Given the description of an element on the screen output the (x, y) to click on. 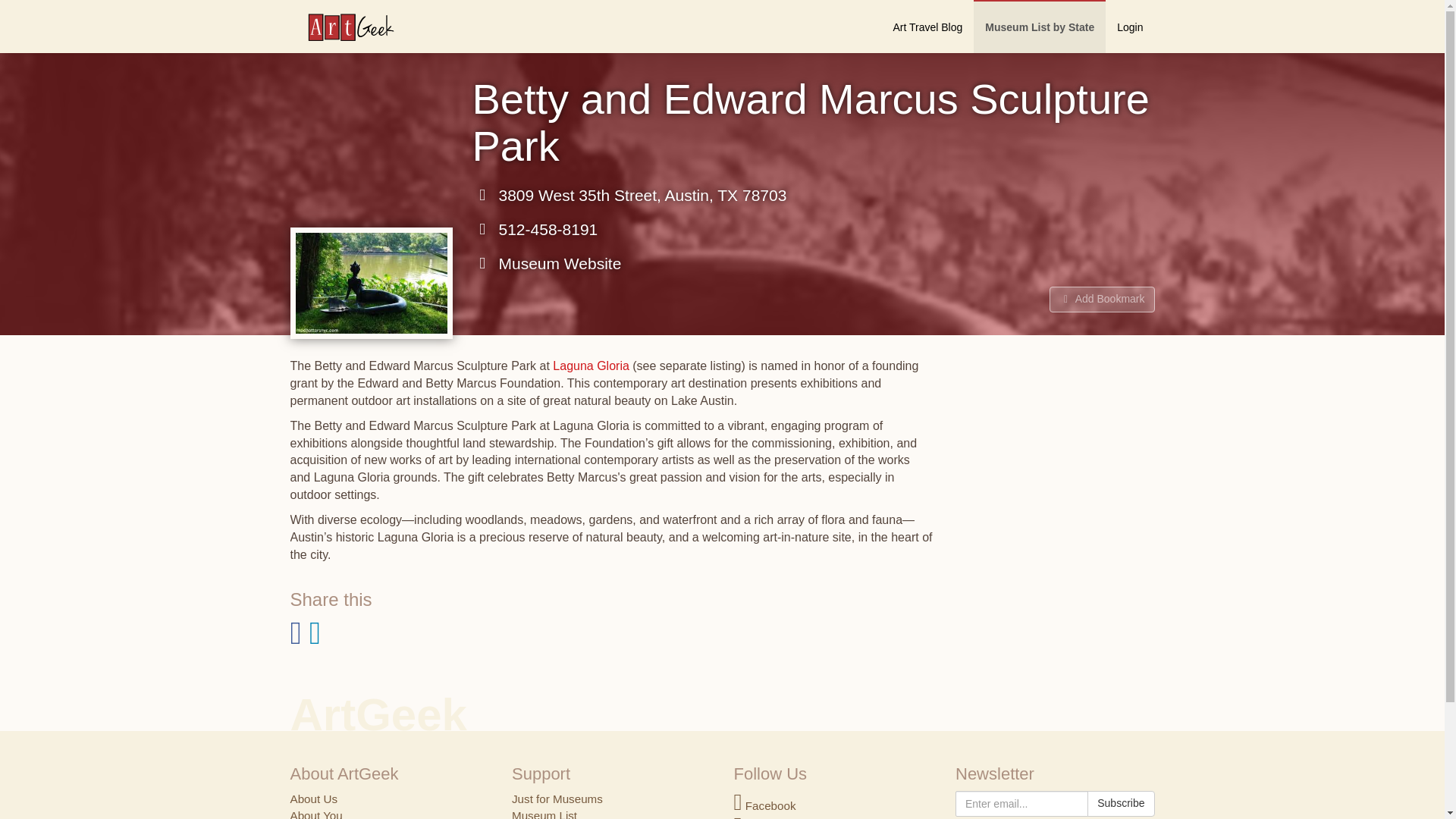
Museum Website (546, 263)
Login (1129, 26)
Art Travel Blog (927, 26)
3809 West 35th Street, Austin, TX 78703 (628, 195)
Laguna Gloria (590, 365)
ArtGeek (343, 26)
Museum List by State (1039, 26)
Add Bookmark (1101, 299)
